Given the description of an element on the screen output the (x, y) to click on. 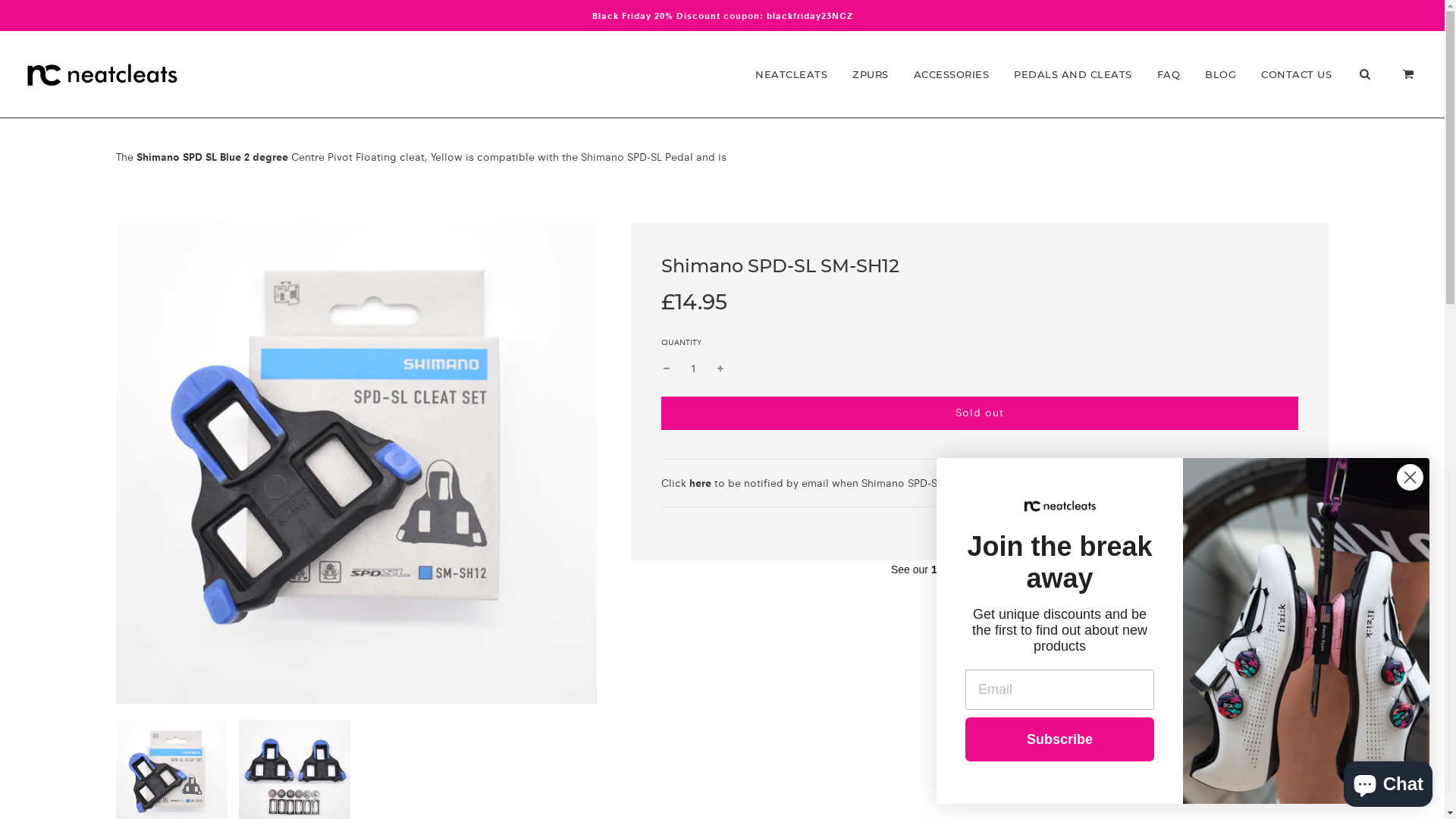
ACCESSORIES Element type: text (951, 74)
Subscribe Element type: text (1059, 739)
Shopify online store chat Element type: hover (1388, 780)
BLOG Element type: text (1220, 74)
PEDALS AND CLEATS Element type: text (1072, 74)
FAQ Element type: text (1168, 74)
here Element type: text (700, 482)
NEATCLEATS Element type: text (790, 74)
ZPURS Element type: text (870, 74)
Black Friday 20% Discount coupon: blackfriday23NCZ Element type: text (722, 15)
Submit Element type: text (21, 16)
Customer reviews powered by Trustpilot Element type: hover (979, 569)
neatcleats great gifts Element type: hover (1306, 630)
CONTACT US Element type: text (1296, 74)
loading...
Sold out Element type: text (980, 412)
